Given the description of an element on the screen output the (x, y) to click on. 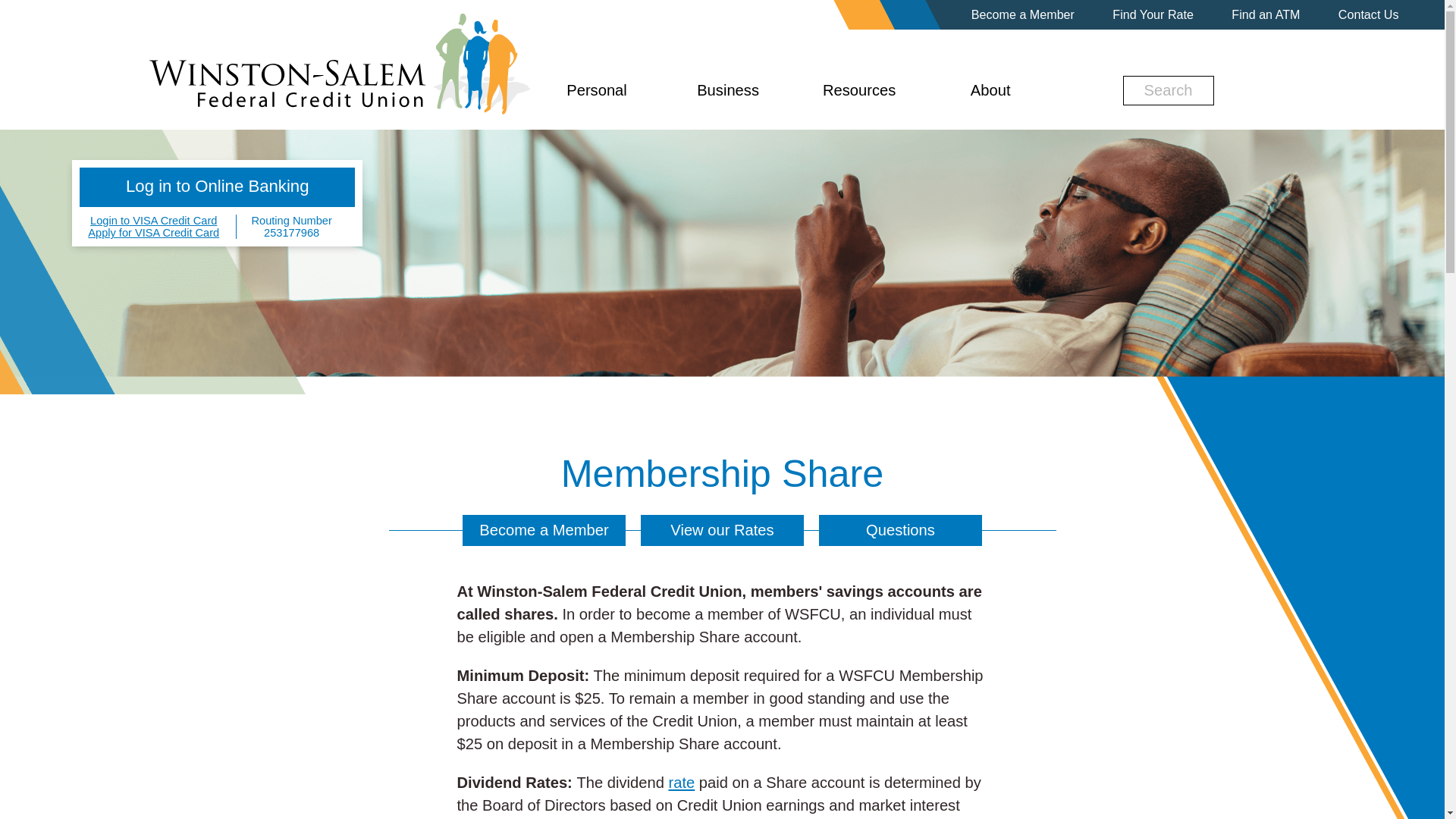
Business (727, 105)
Personal (596, 105)
Find an ATM (1265, 14)
Contact Us (1368, 14)
Winston-Salem Federal Credit Union (339, 62)
Become a Member (1022, 14)
Find Your Rate (1152, 14)
